Given the description of an element on the screen output the (x, y) to click on. 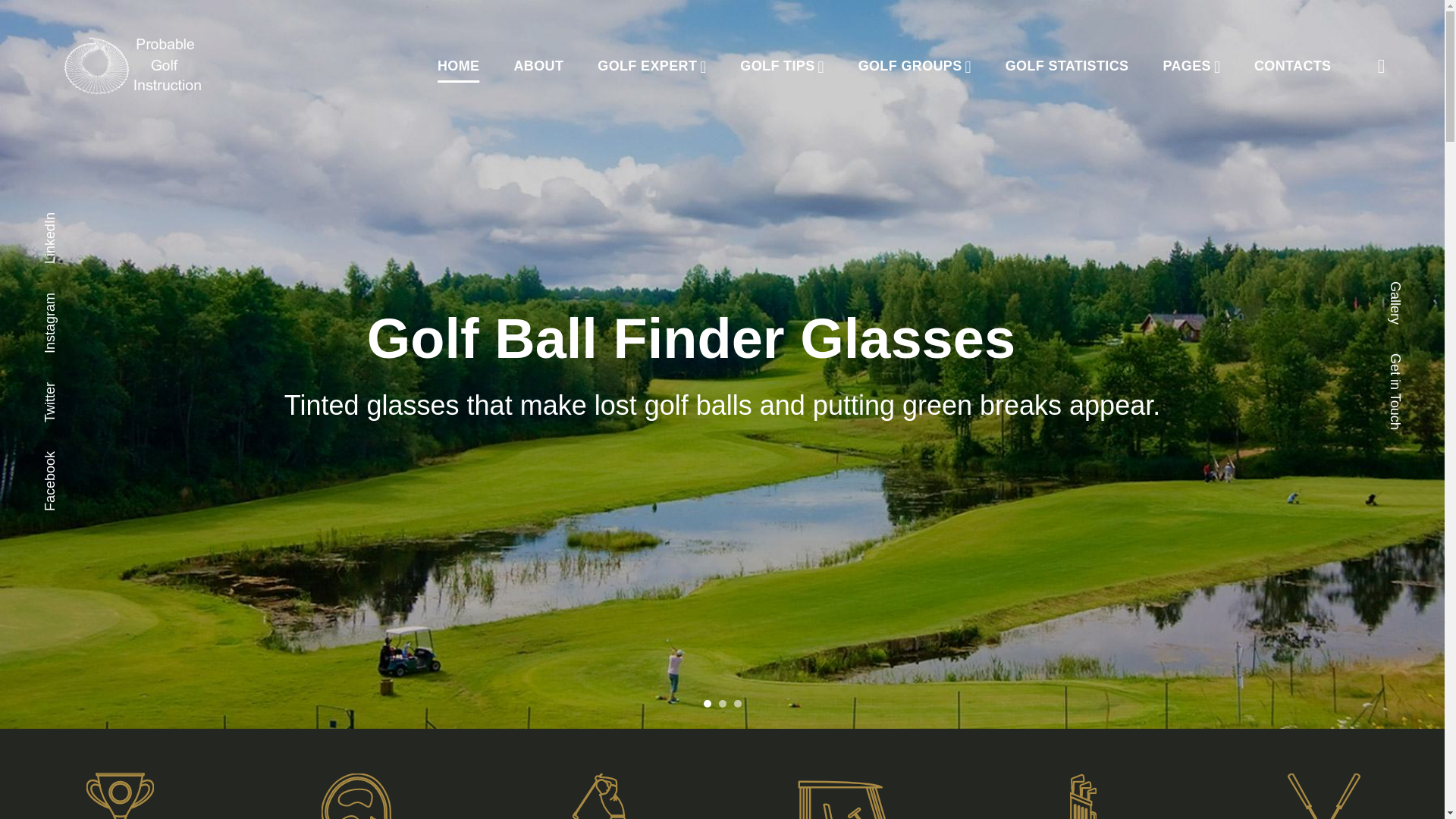
GOLF GROUPS (910, 66)
ABOUT (538, 66)
HOME (458, 66)
GOLF TIPS (776, 66)
PAGES (1185, 66)
GOLF EXPERT (646, 66)
GOLF STATISTICS (1067, 66)
